Given the description of an element on the screen output the (x, y) to click on. 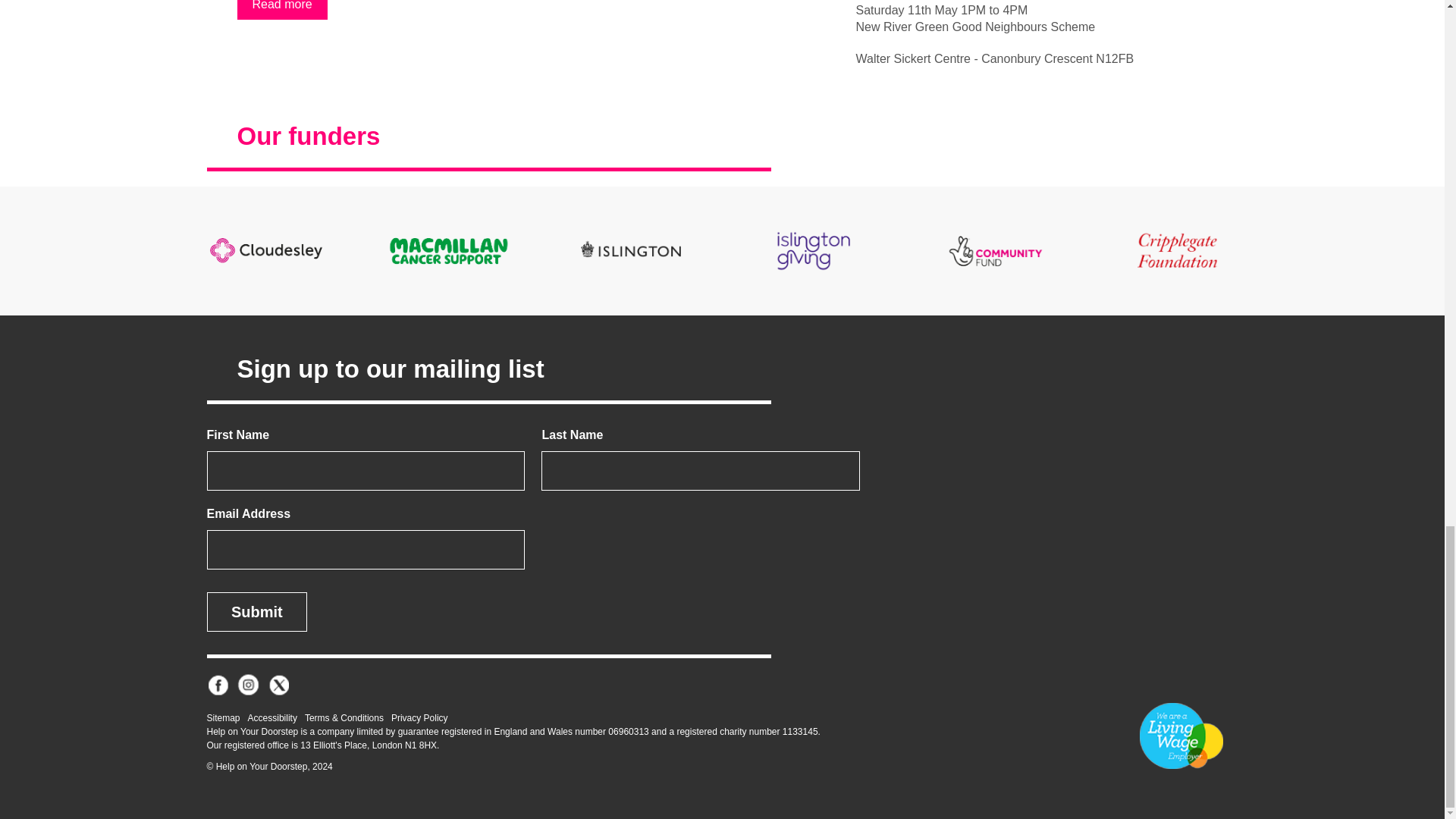
Submit (256, 611)
